Given the description of an element on the screen output the (x, y) to click on. 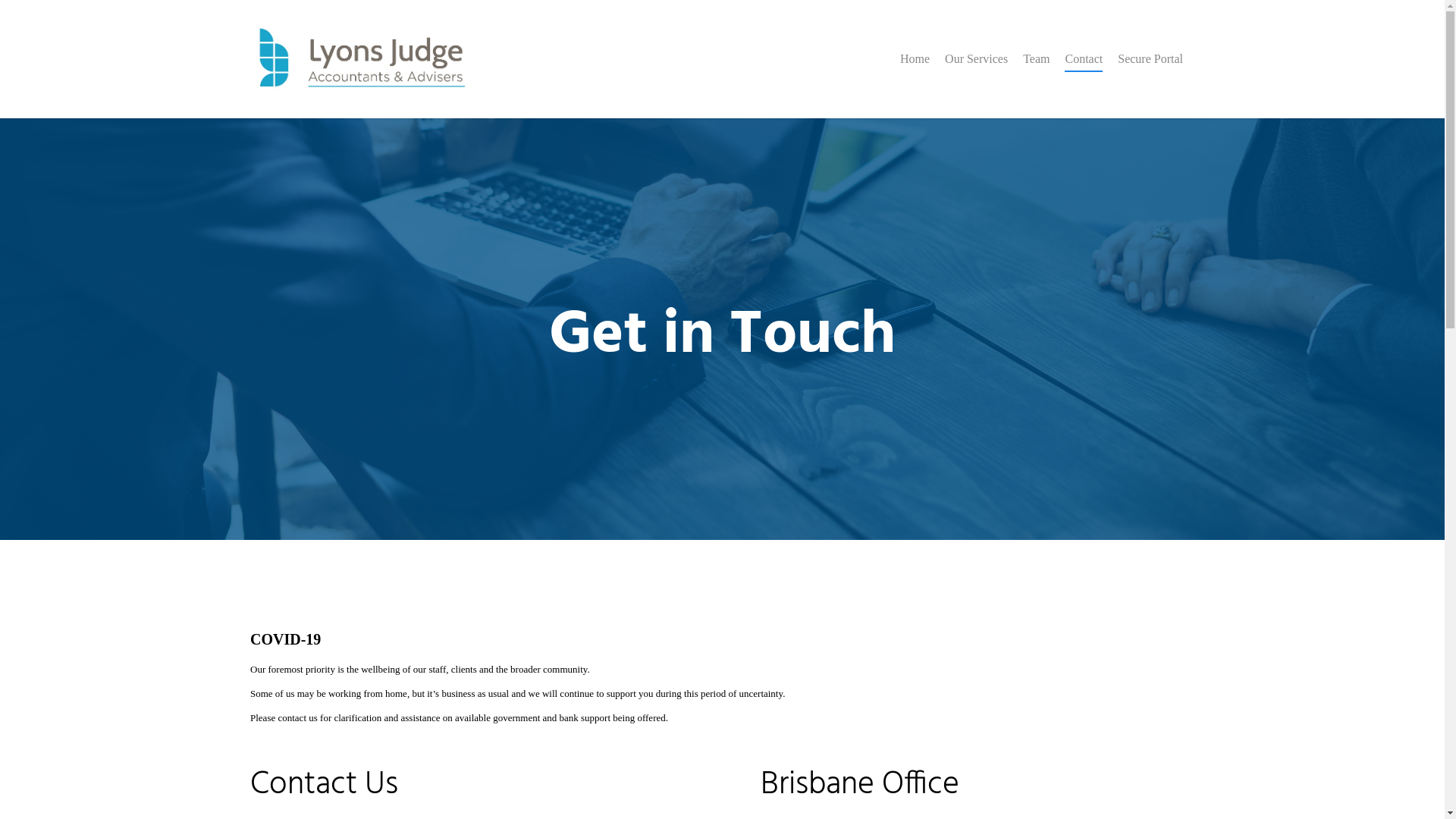
Team Element type: text (1035, 69)
Contact Element type: text (1083, 69)
Home Element type: text (914, 69)
Secure Portal Element type: text (1150, 69)
Our Services Element type: text (975, 69)
